Given the description of an element on the screen output the (x, y) to click on. 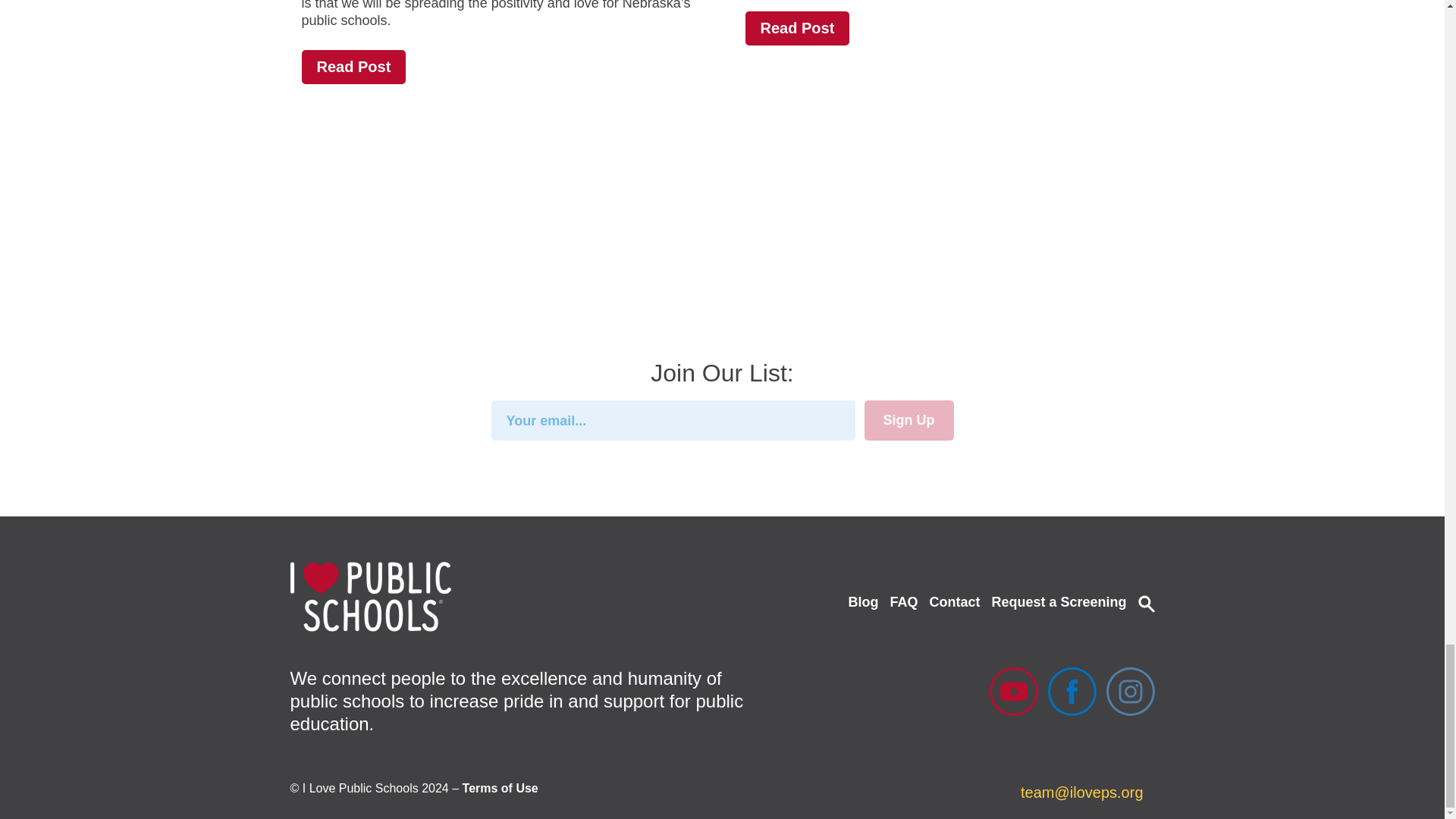
ILovePS on Instagram (1129, 691)
Sign Up (908, 420)
ILovePS on Youtube (1012, 691)
ILovePS on Facebook (1072, 691)
I Love Public Schools (369, 596)
